Given the description of an element on the screen output the (x, y) to click on. 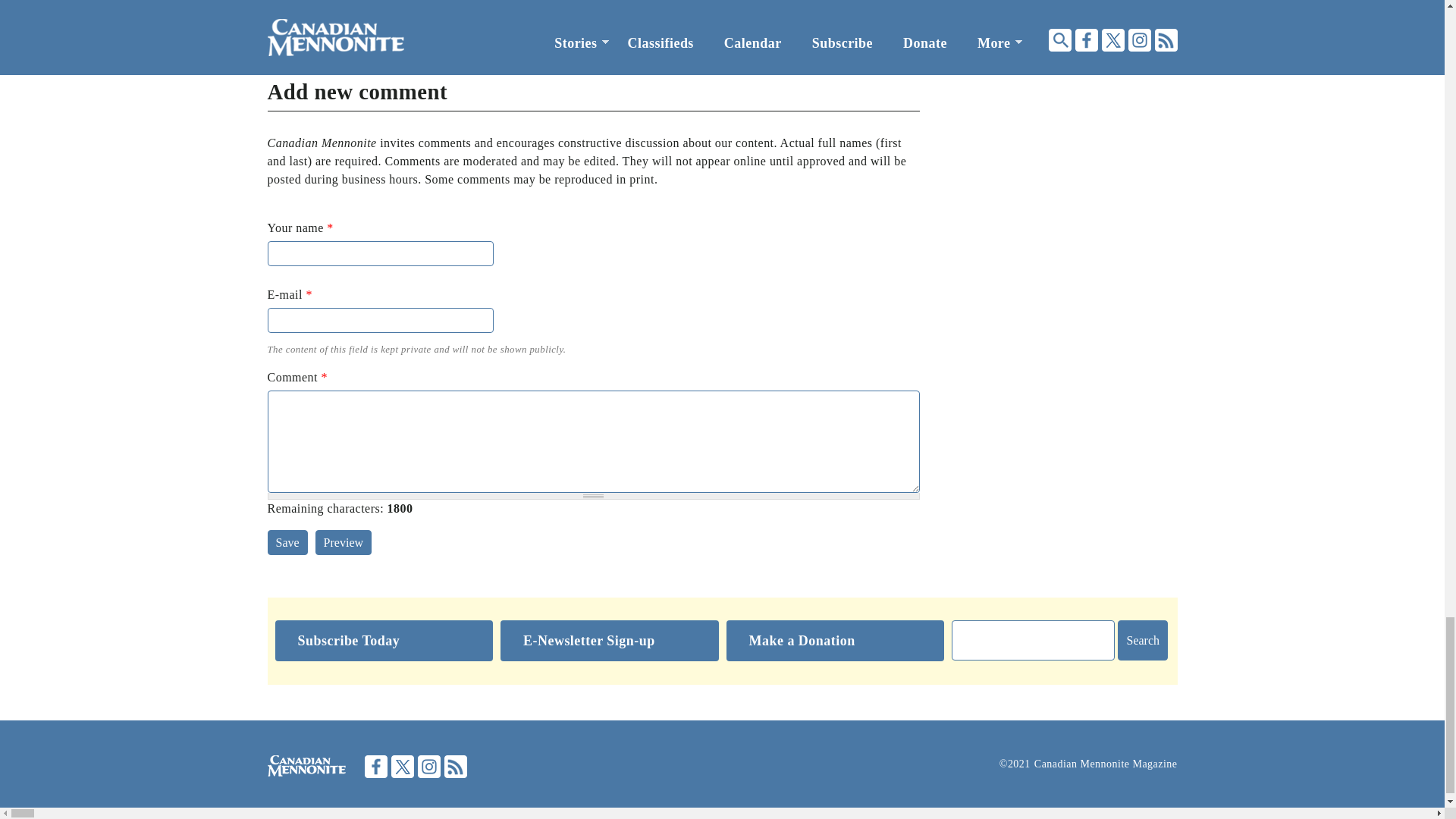
Preview (343, 542)
Save (286, 542)
Search (1142, 639)
